Given the description of an element on the screen output the (x, y) to click on. 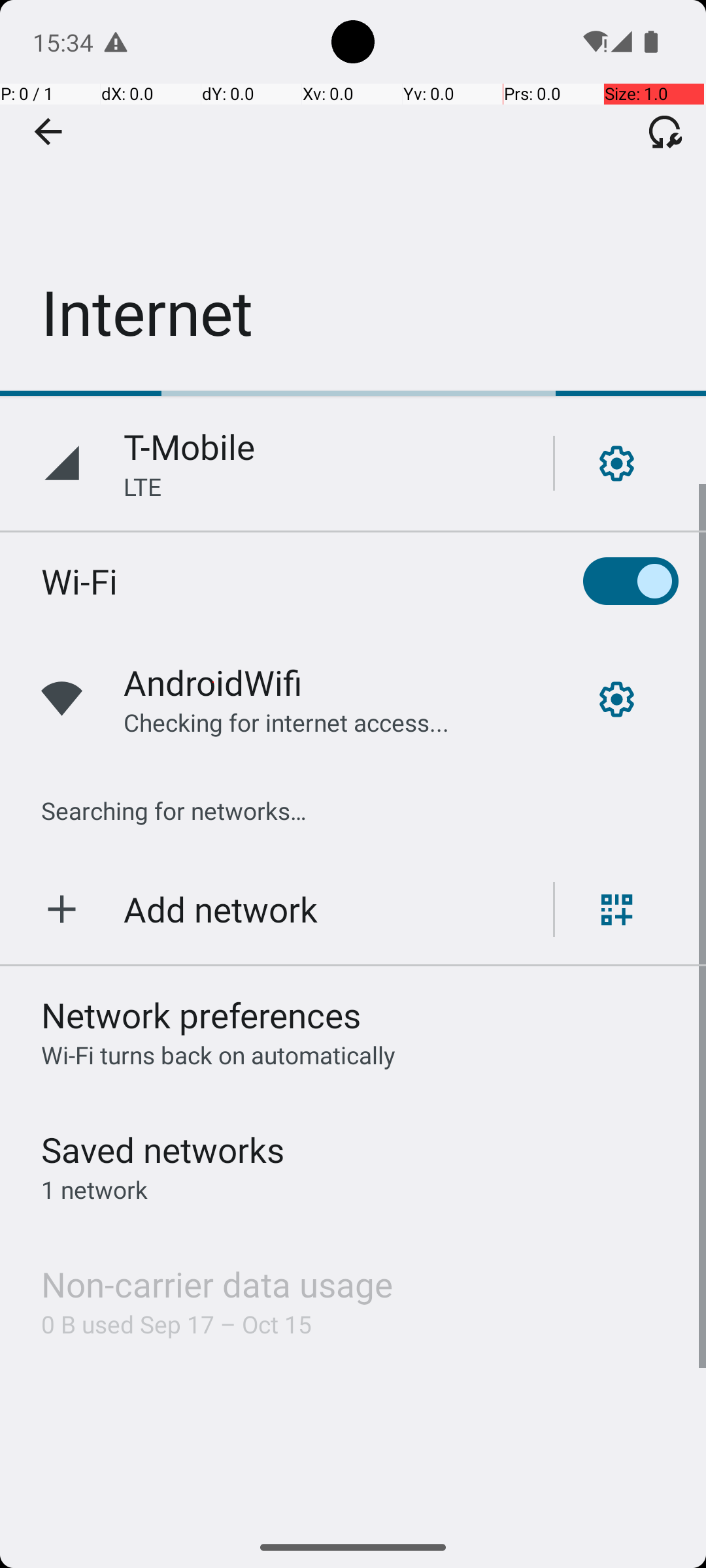
Internet Element type: android.widget.FrameLayout (353, 195)
Fix connectivity Element type: android.widget.TextView (664, 131)
AndroidWifi,Checking for internet access...,Wifi signal full.,Open network Element type: android.widget.LinearLayout (353, 698)
T-Mobile Element type: android.widget.TextView (188, 446)
LTE Element type: android.widget.TextView (142, 486)
Wi-Fi Element type: android.widget.TextView (79, 580)
AndroidWifi Element type: android.widget.TextView (212, 682)
Checking for internet access... Element type: android.widget.TextView (286, 721)
Searching for networks… Element type: android.widget.TextView (173, 810)
Add network Element type: android.widget.TextView (220, 908)
Scan QR code Element type: android.widget.ImageButton (616, 909)
Network preferences Element type: android.widget.TextView (201, 1014)
Wi‑Fi turns back on automatically Element type: android.widget.TextView (218, 1054)
Saved networks Element type: android.widget.TextView (163, 1149)
1 network Element type: android.widget.TextView (94, 1189)
Non-carrier data usage Element type: android.widget.TextView (216, 1283)
0 B used Sep 17 – Oct 15 Element type: android.widget.TextView (176, 1323)
Wifi signal full.,No internet Element type: android.widget.FrameLayout (593, 41)
